Given the description of an element on the screen output the (x, y) to click on. 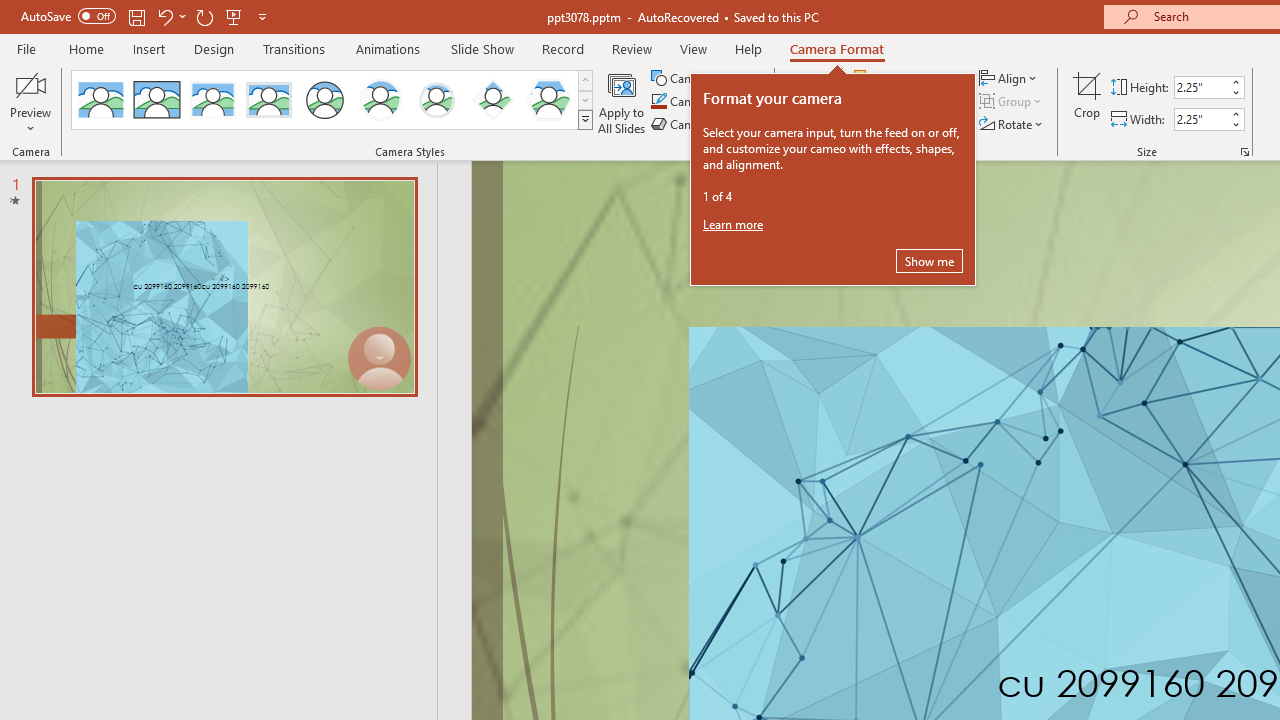
Camera Border (706, 101)
Crop (1087, 102)
AutomationID: CameoStylesGallery (333, 99)
Camera Border Green, Accent 1 (658, 101)
